Given the description of an element on the screen output the (x, y) to click on. 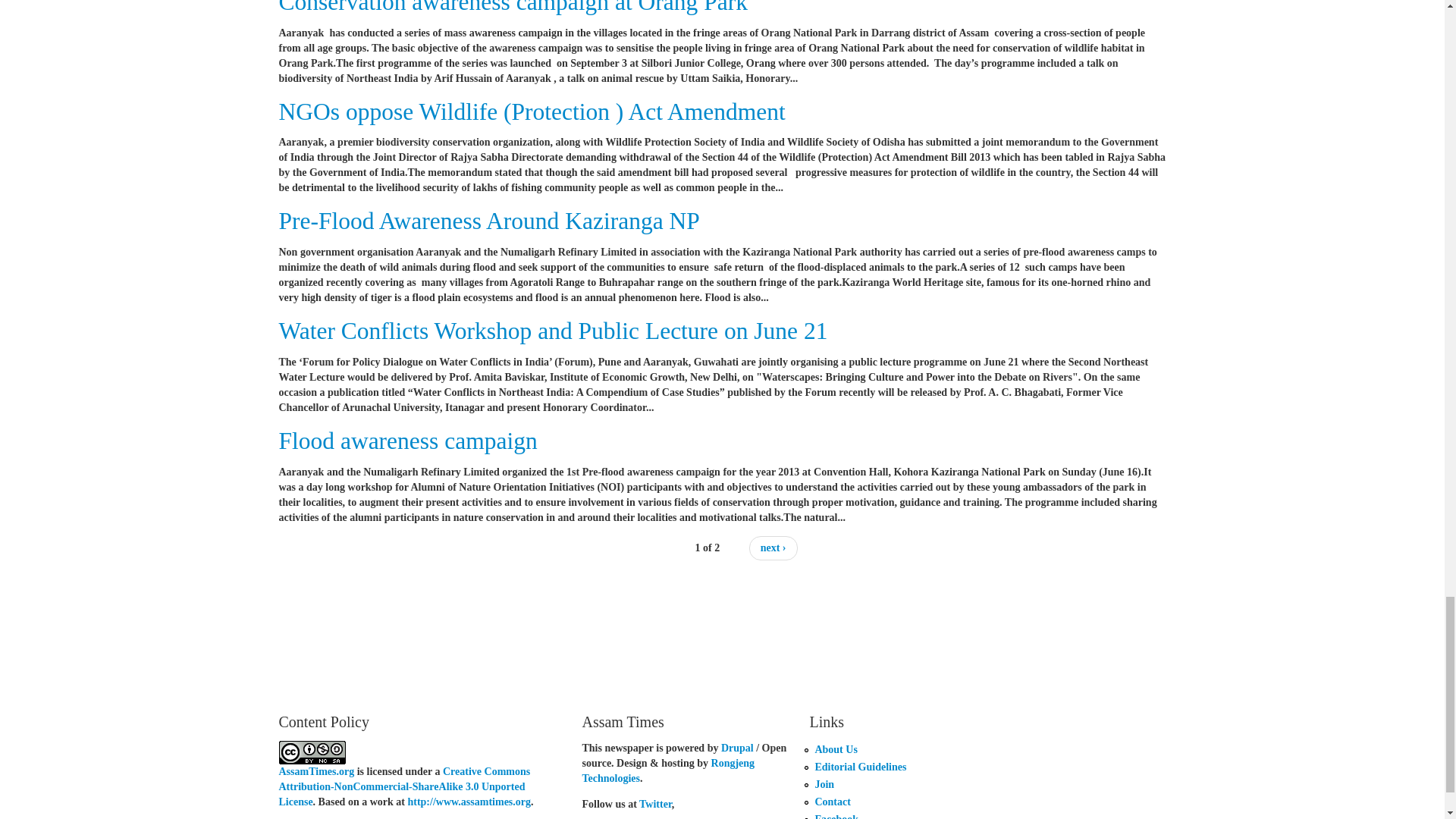
Water Conflicts Workshop and Public Lecture on June 21 (553, 330)
Pre-Flood Awareness Around Kaziranga NP (489, 221)
AssamTimes.org (317, 771)
Flood awareness campaign (408, 440)
Go to next page (773, 548)
Conservation awareness campaign at Orang Park (513, 7)
